Given the description of an element on the screen output the (x, y) to click on. 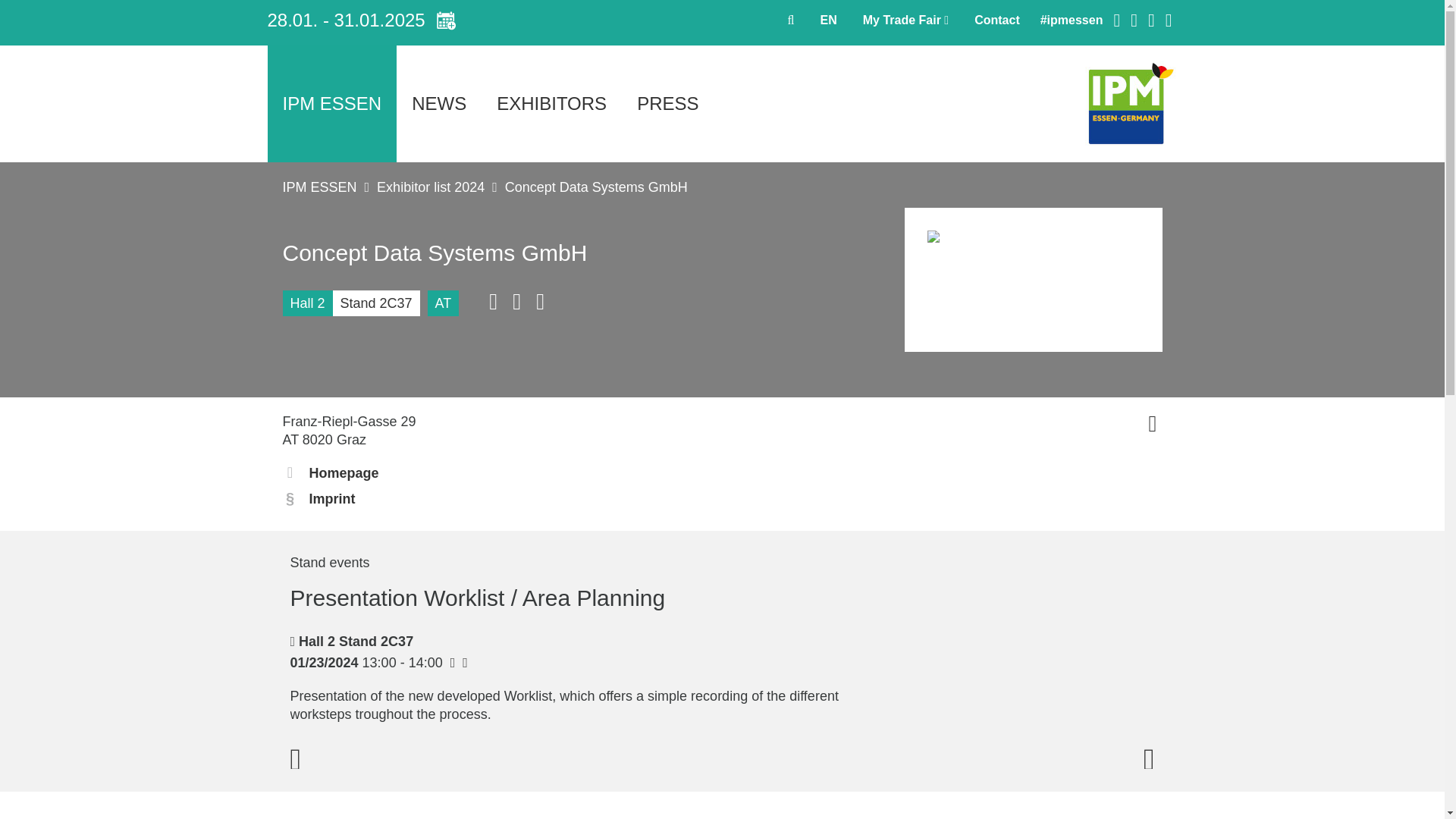
Contact (997, 20)
My Trade Fair (906, 20)
IPM ESSEN (331, 103)
IPM ESSEN (331, 103)
